Given the description of an element on the screen output the (x, y) to click on. 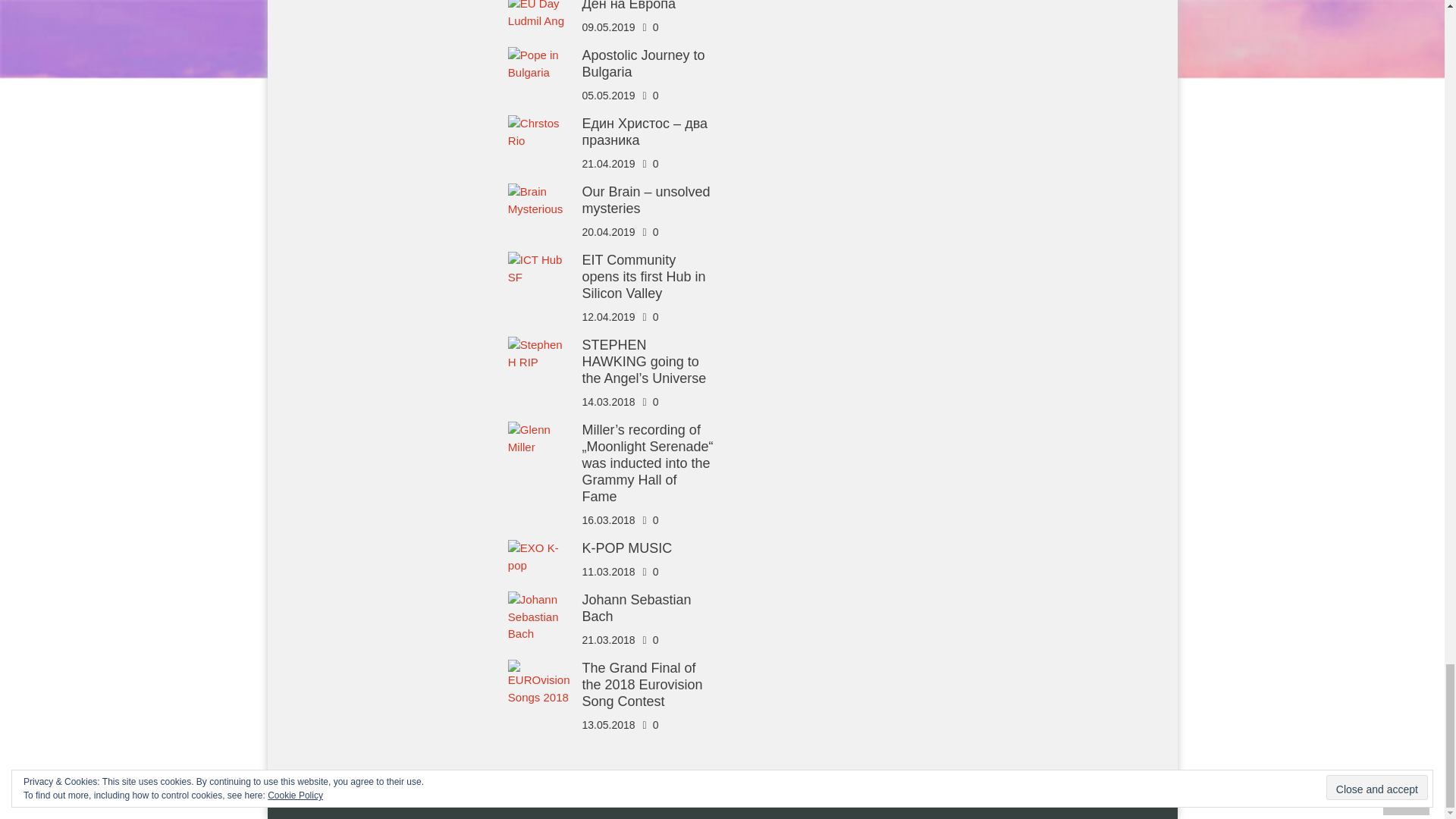
AccessPress Themes (635, 797)
